Given the description of an element on the screen output the (x, y) to click on. 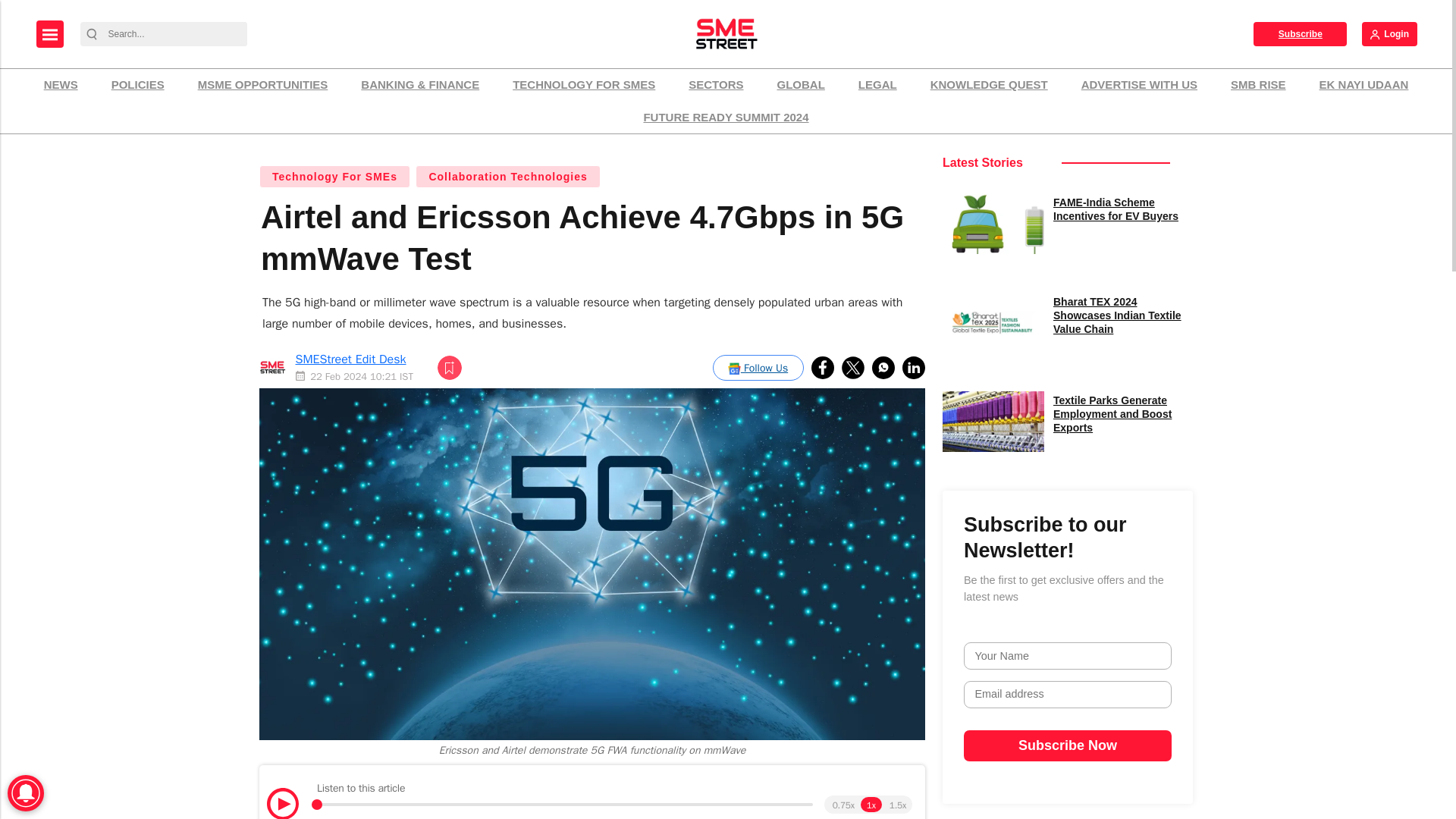
SECTORS (715, 84)
Login (1388, 33)
FUTURE READY SUMMIT 2024 (725, 117)
Subscribe (1299, 33)
LEGAL (877, 84)
ADVERTISE WITH US (1139, 84)
TECHNOLOGY FOR SMES (583, 84)
SMEStreet Edit Desk (350, 359)
Collaboration Technologies (506, 176)
GLOBAL (800, 84)
KNOWLEDGE QUEST (988, 84)
SMB RISE (1258, 84)
EK NAYI UDAAN (1364, 84)
POLICIES (138, 84)
Technology For SMEs (334, 176)
